Given the description of an element on the screen output the (x, y) to click on. 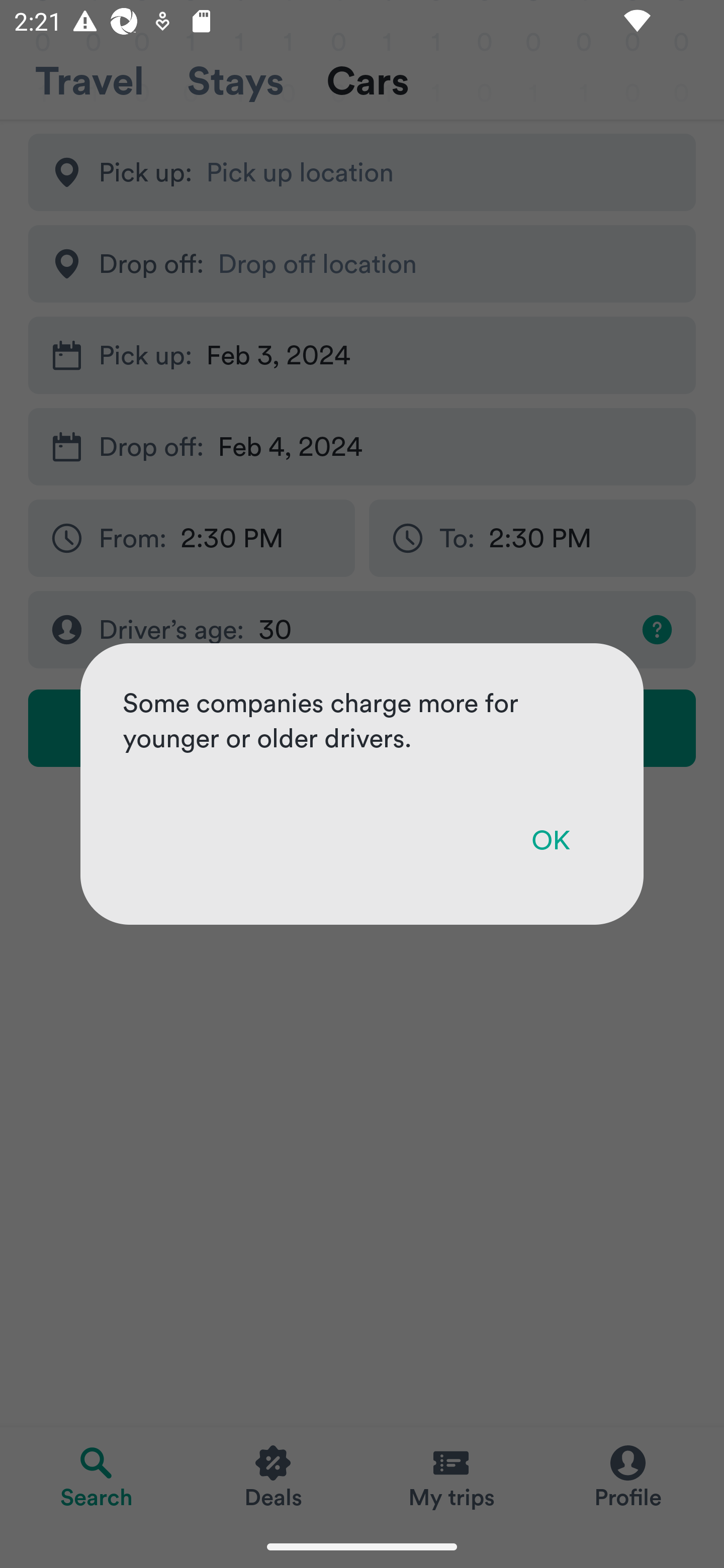
OK (550, 840)
